Given the description of an element on the screen output the (x, y) to click on. 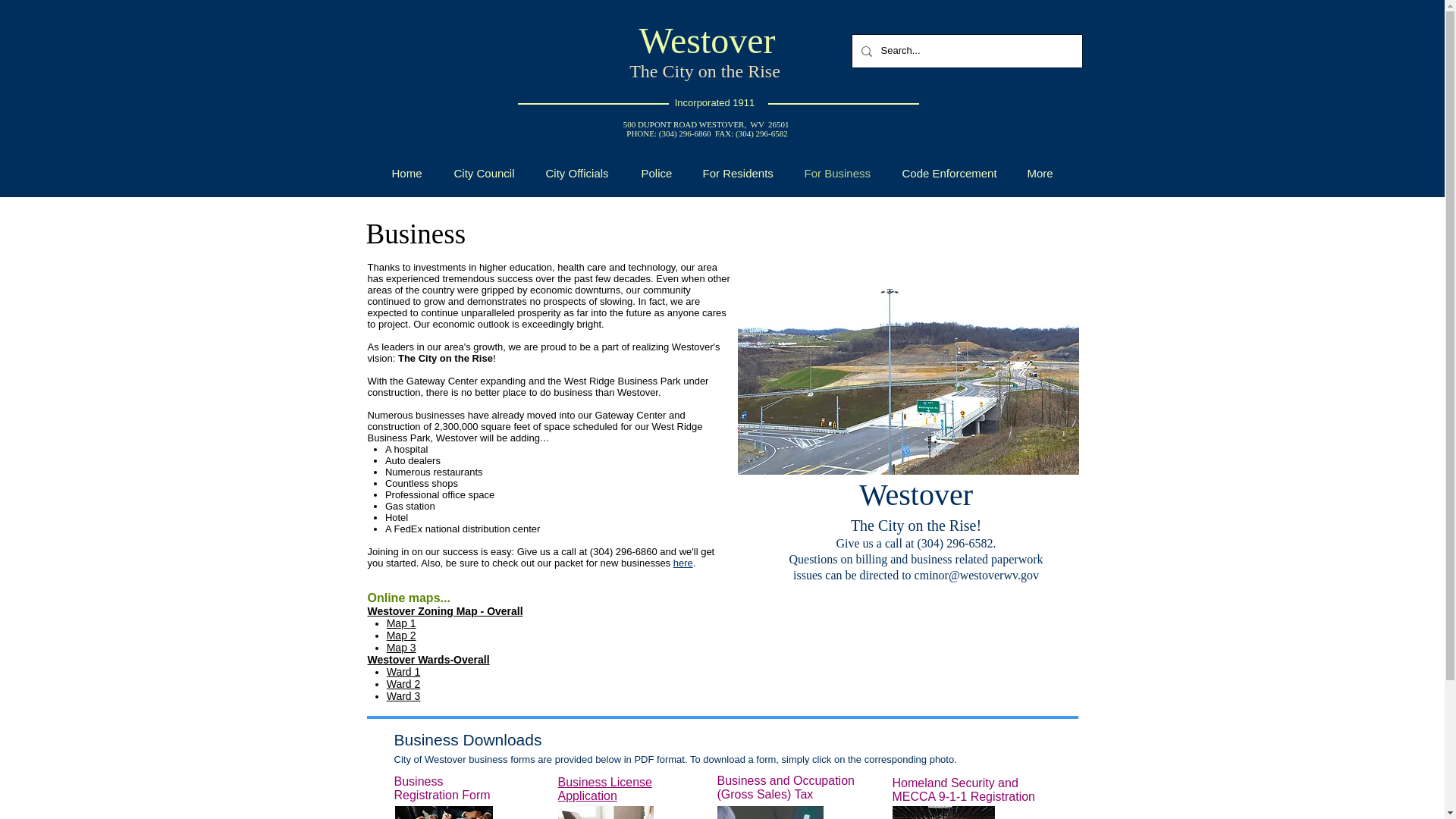
For Residents (738, 172)
Ward 2 (403, 684)
Map 3 (401, 647)
Home (406, 172)
Westover Wards-Overall (427, 659)
City Council (483, 172)
Westover Zoning Map - Overall (444, 611)
City Officials (576, 172)
Business License Application (604, 788)
Police (654, 172)
Construction Site 4 From Uni Town-web.jpg (907, 364)
Map 1 (401, 623)
here (682, 562)
Ward 3 (403, 695)
For Business (837, 172)
